Given the description of an element on the screen output the (x, y) to click on. 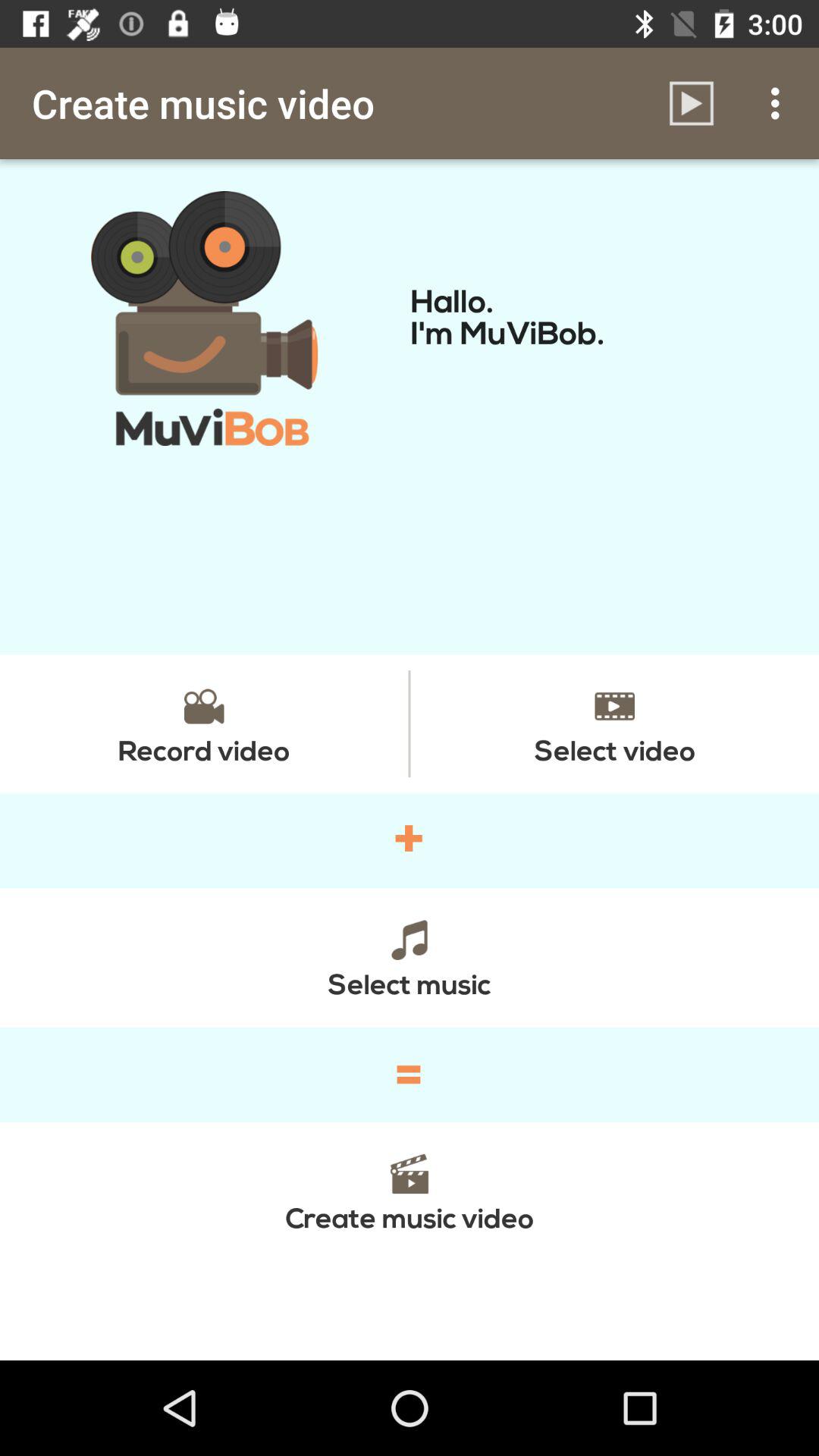
click icon next to the select video item (204, 723)
